Given the description of an element on the screen output the (x, y) to click on. 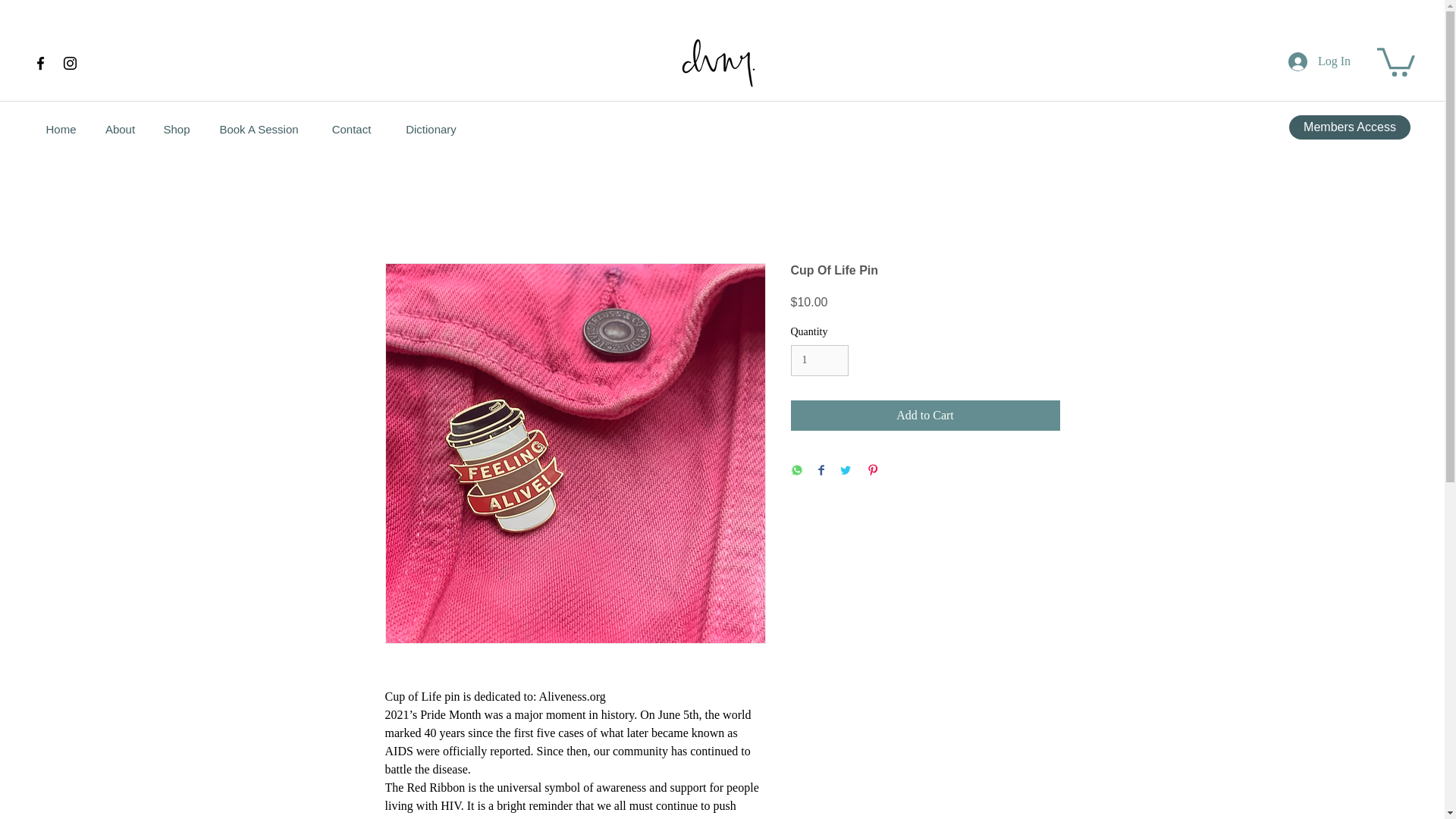
About (119, 129)
Log In (1319, 60)
Add to Cart (924, 415)
Dictionary (431, 129)
Contact (351, 129)
Shop (176, 129)
Book A Session (258, 129)
Home (61, 129)
Members Access (1349, 127)
1 (818, 359)
